Given the description of an element on the screen output the (x, y) to click on. 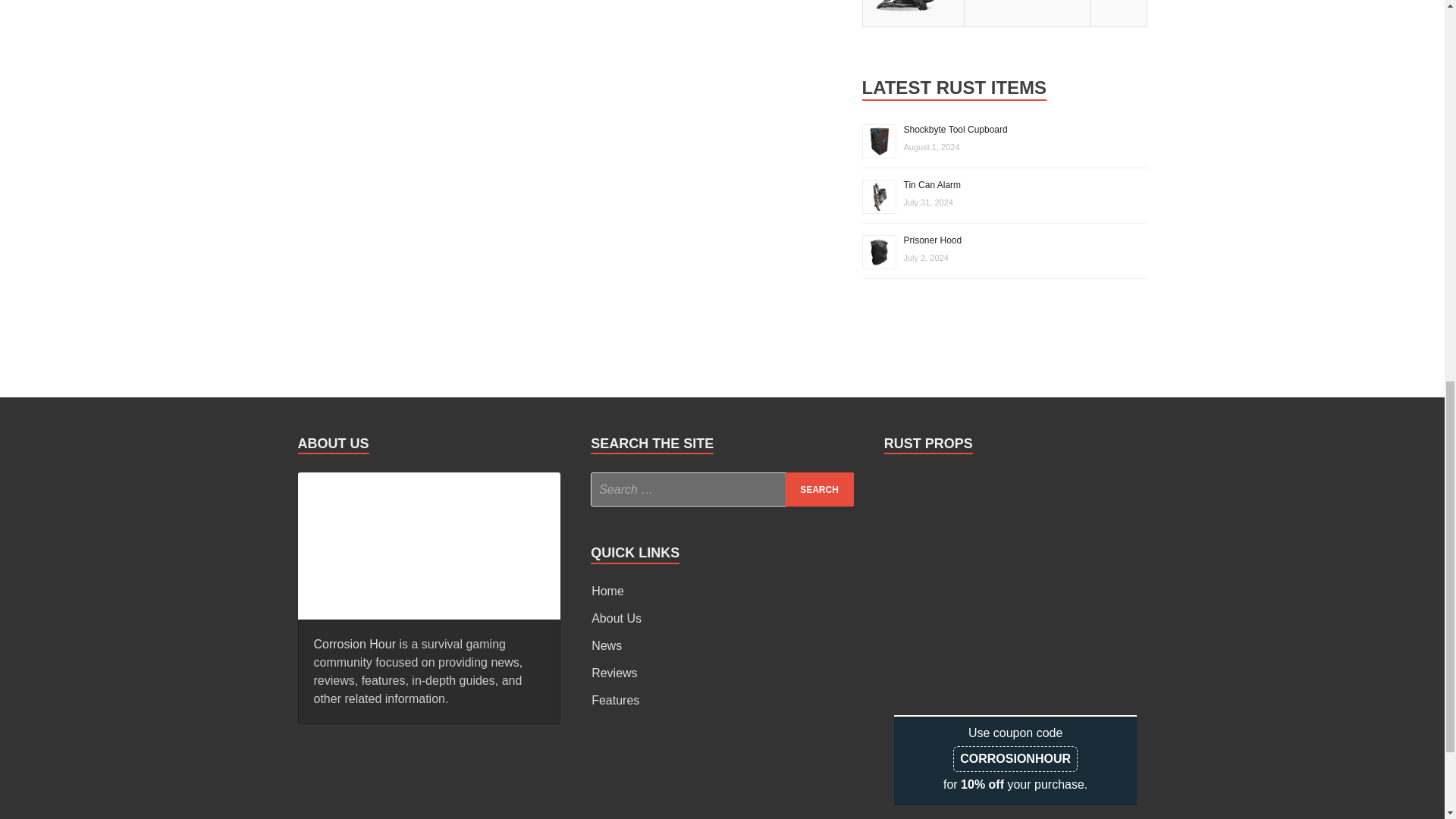
Search (818, 489)
Search (818, 489)
CorrosionHour (428, 542)
